Given the description of an element on the screen output the (x, y) to click on. 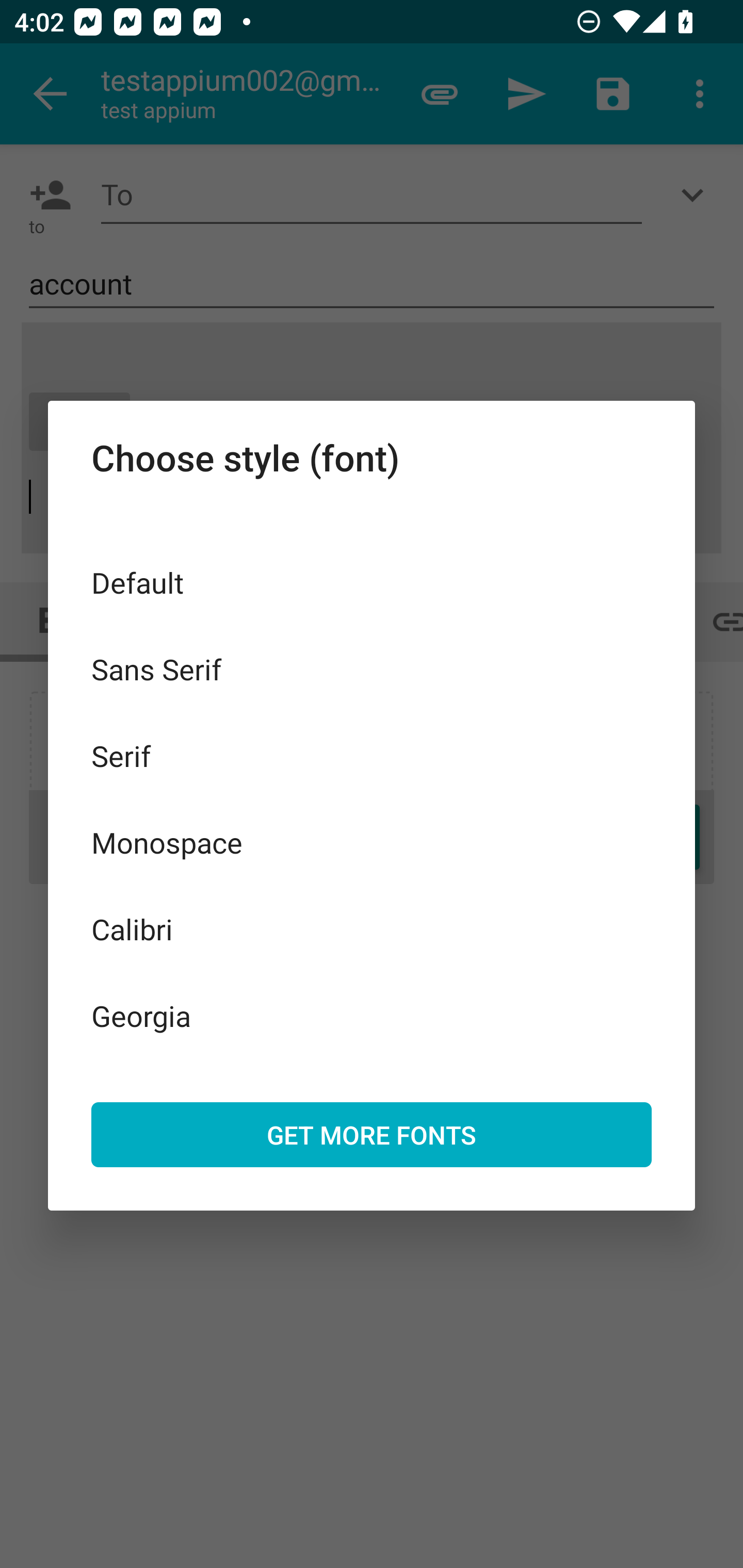
Default (371, 582)
Sans Serif (371, 668)
Serif (371, 755)
Monospace (371, 842)
Calibri (371, 928)
Georgia (371, 1015)
GET MORE FONTS (371, 1134)
